Given the description of an element on the screen output the (x, y) to click on. 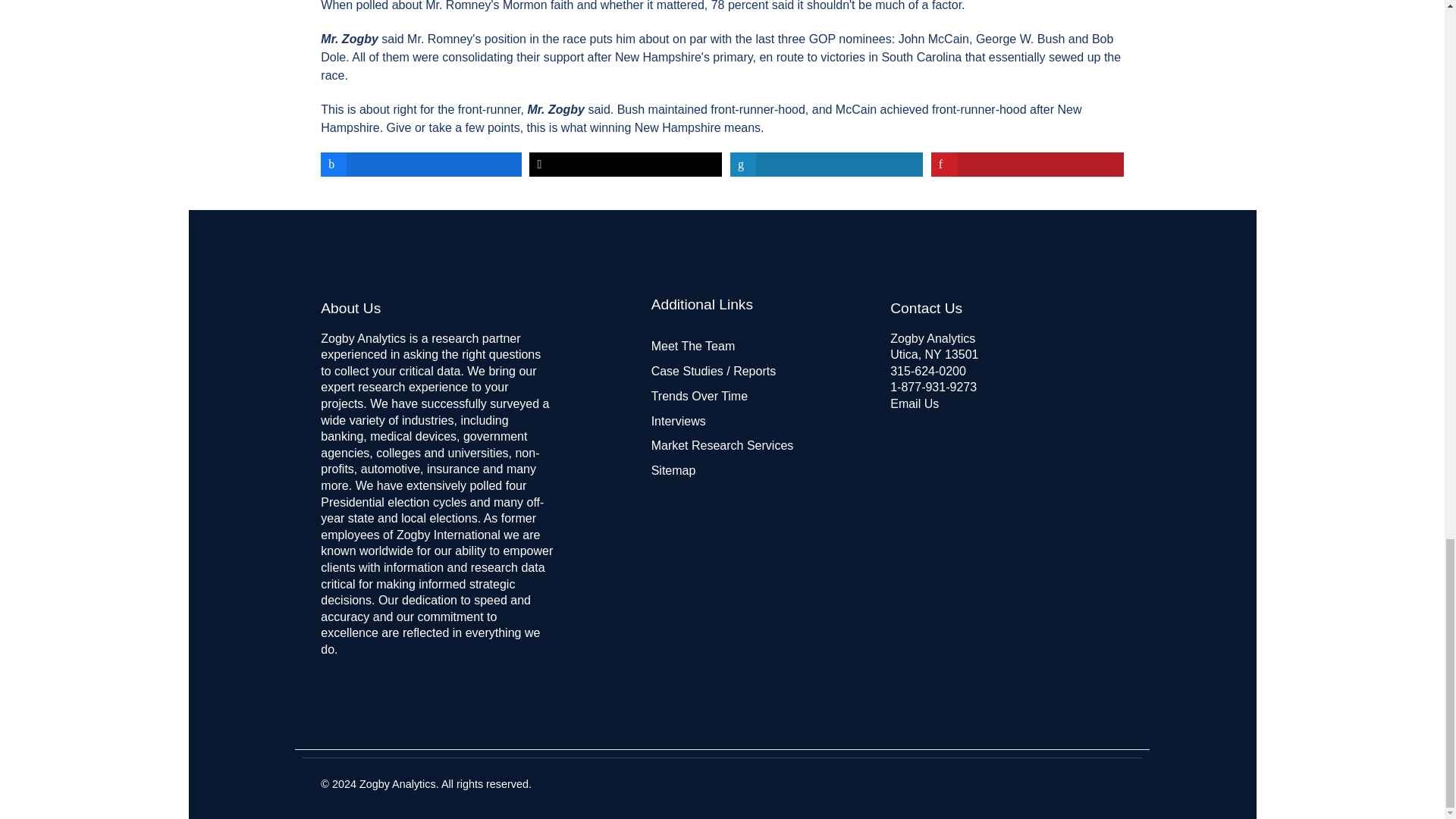
Market Research Services (721, 445)
Sitemap (672, 470)
Meet The Team (692, 345)
Email Us (914, 403)
Trends Over Time (699, 395)
Sitemap (672, 470)
Market Research Services (721, 445)
Meet The Team (692, 345)
Trends Over Time (699, 395)
Interviews (678, 420)
Interviews (678, 420)
